Given the description of an element on the screen output the (x, y) to click on. 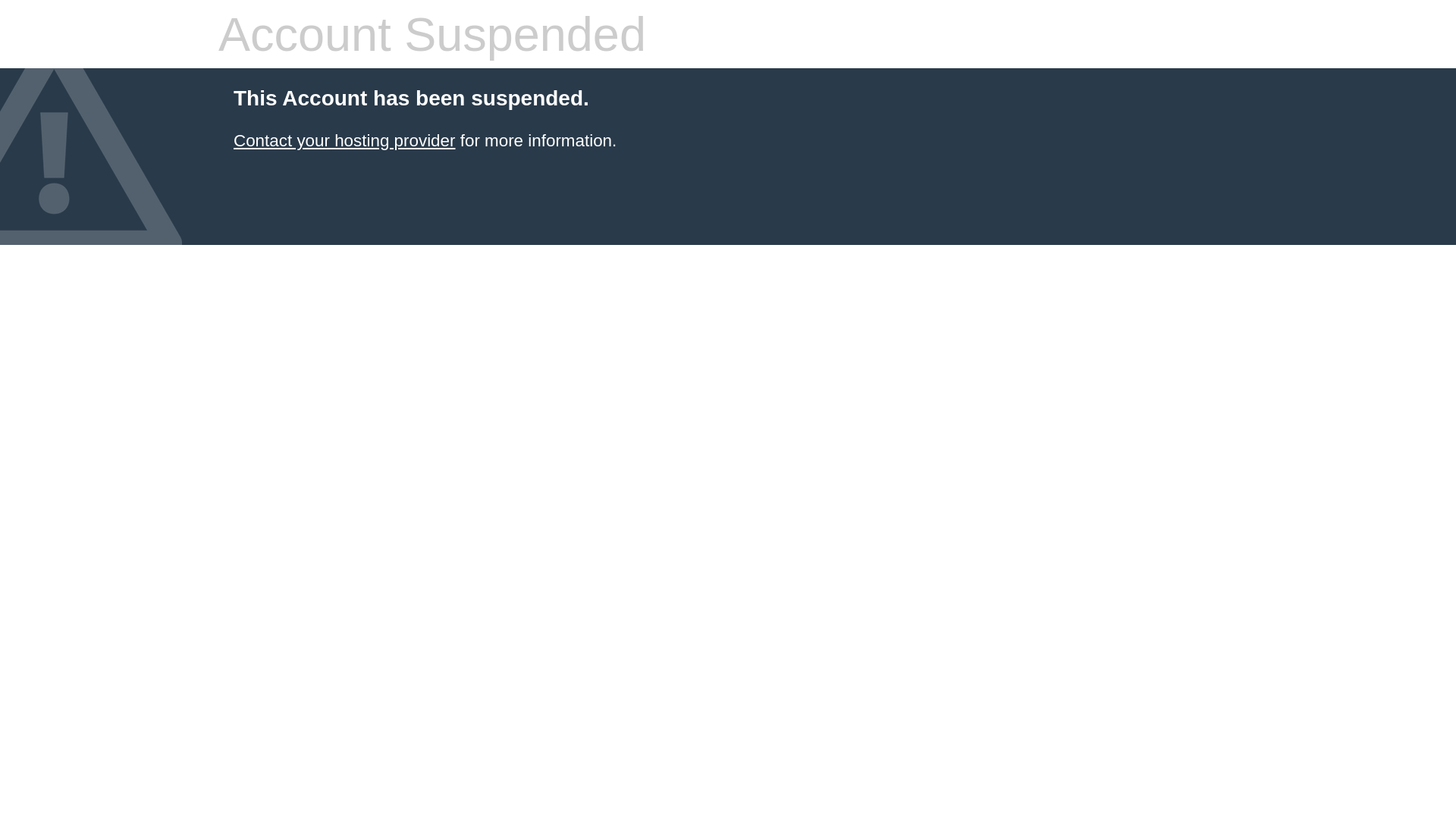
Contact your hosting provider Element type: text (344, 140)
